Given the description of an element on the screen output the (x, y) to click on. 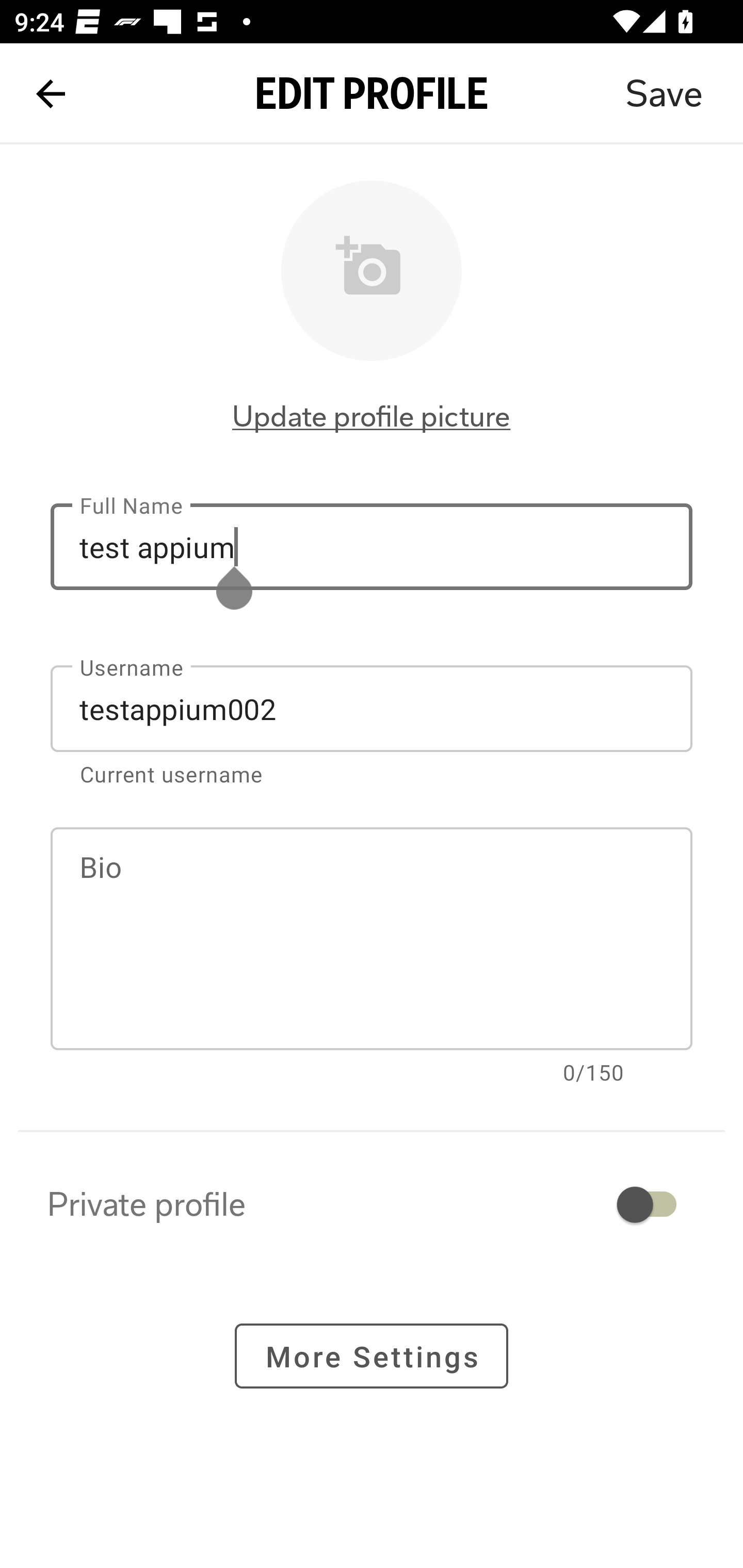
Back (50, 93)
Save (663, 93)
Update profile picture (371, 415)
test appium (371, 546)
testappium002 (371, 708)
Bio (371, 938)
Private profile (371, 1204)
More Settings (371, 1355)
